Given the description of an element on the screen output the (x, y) to click on. 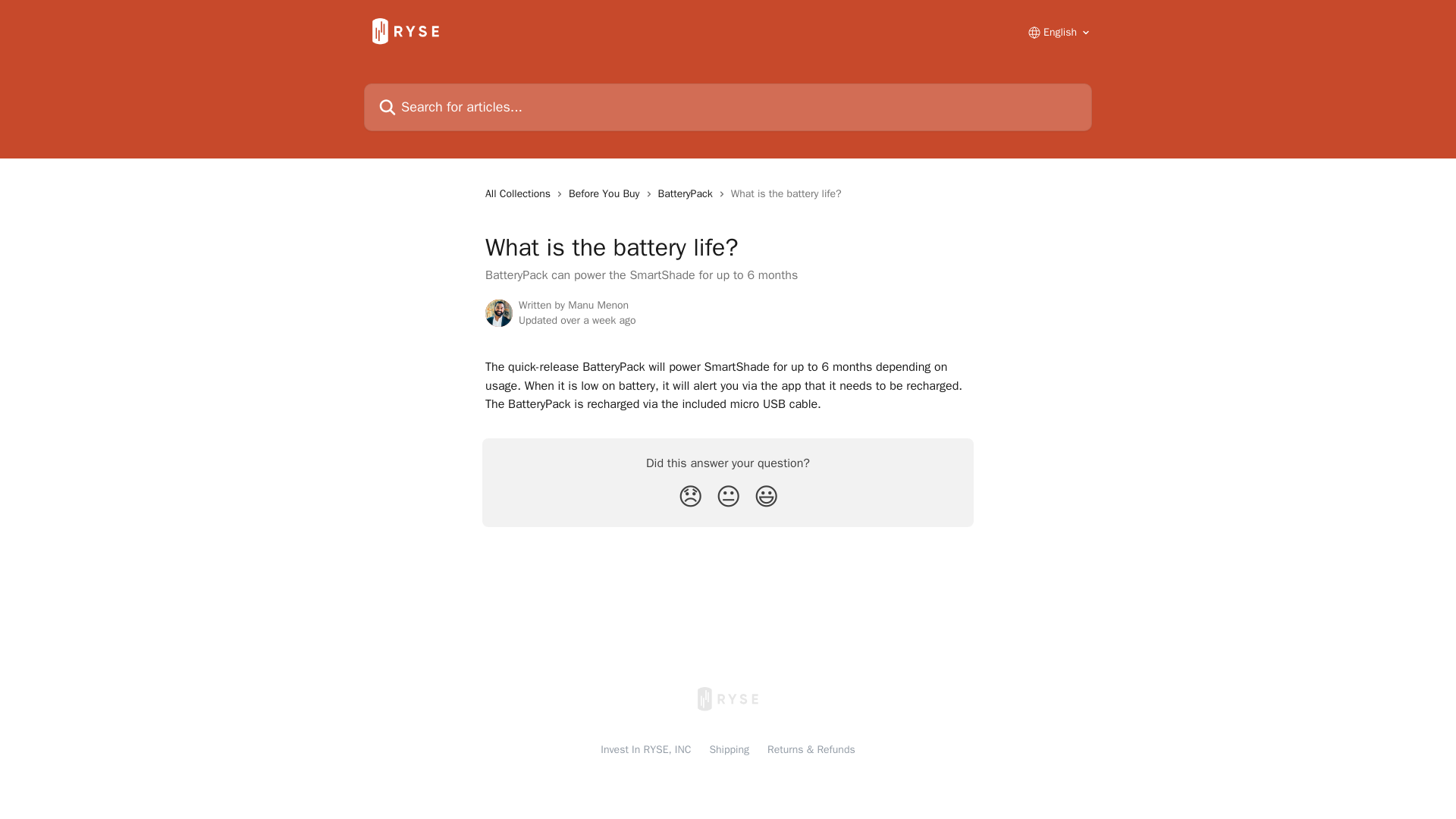
Before You Buy (607, 193)
BatteryPack (688, 193)
Invest In RYSE, INC (644, 748)
All Collections (520, 193)
Shipping (729, 748)
